Given the description of an element on the screen output the (x, y) to click on. 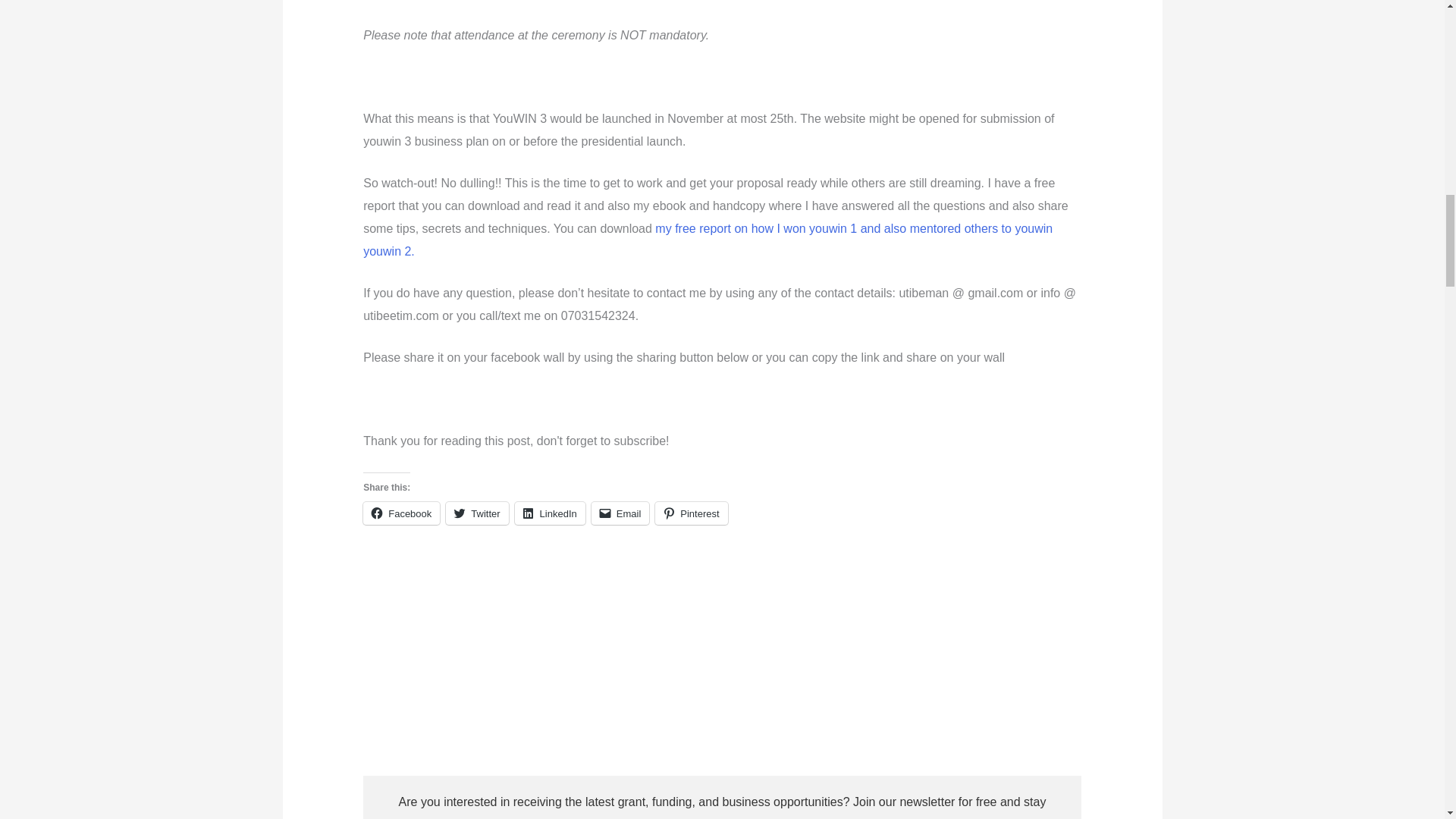
Click to email a link to a friend (620, 513)
Click to share on Twitter (476, 513)
Pinterest (690, 513)
Click to share on Pinterest (690, 513)
Email (620, 513)
Click to download the free report on YouWIN (707, 239)
Click to share on LinkedIn (550, 513)
Facebook (400, 513)
Click to share on Facebook (400, 513)
LinkedIn (550, 513)
Twitter (476, 513)
